Given the description of an element on the screen output the (x, y) to click on. 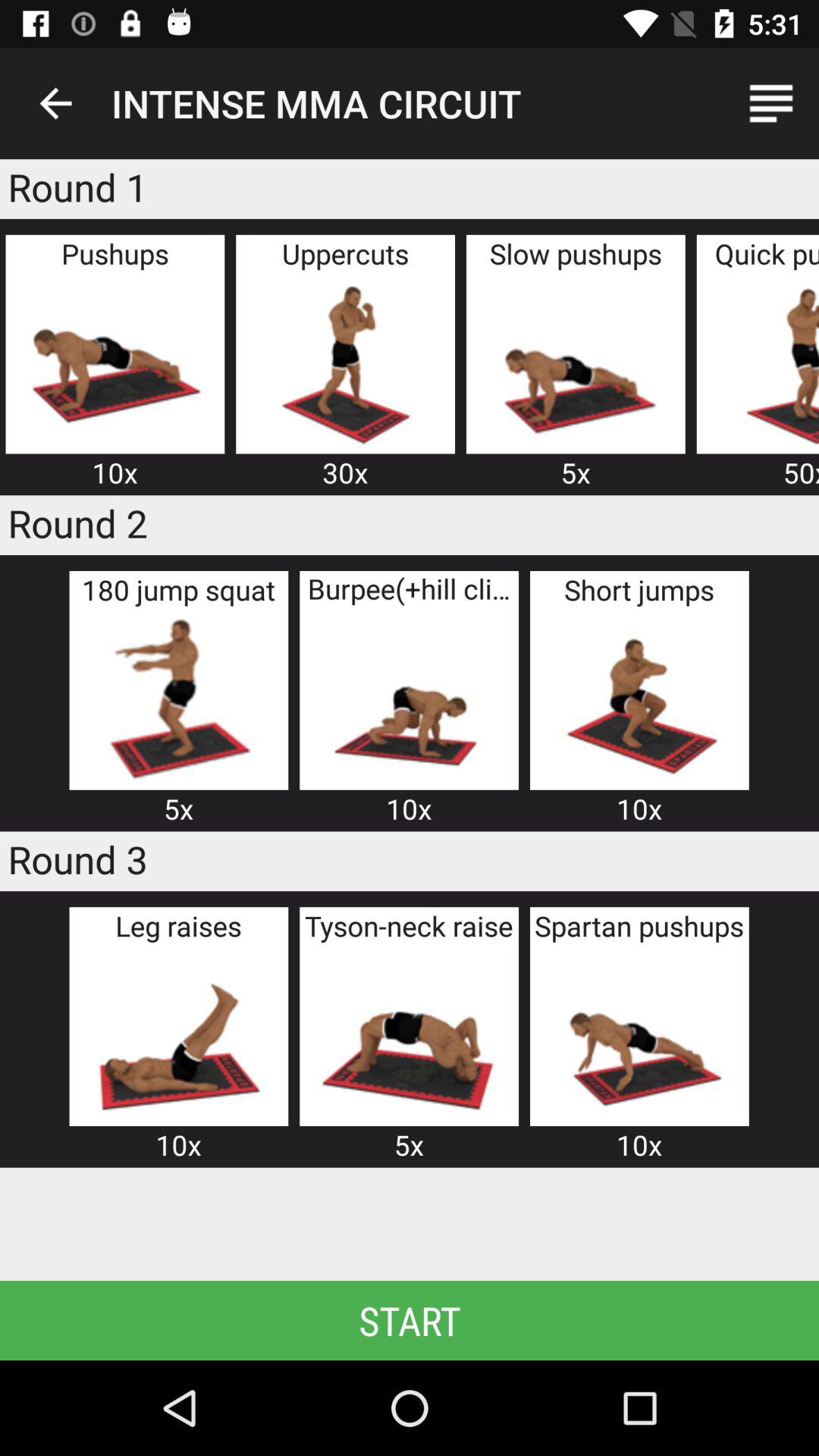
select exercise (638, 1034)
